Given the description of an element on the screen output the (x, y) to click on. 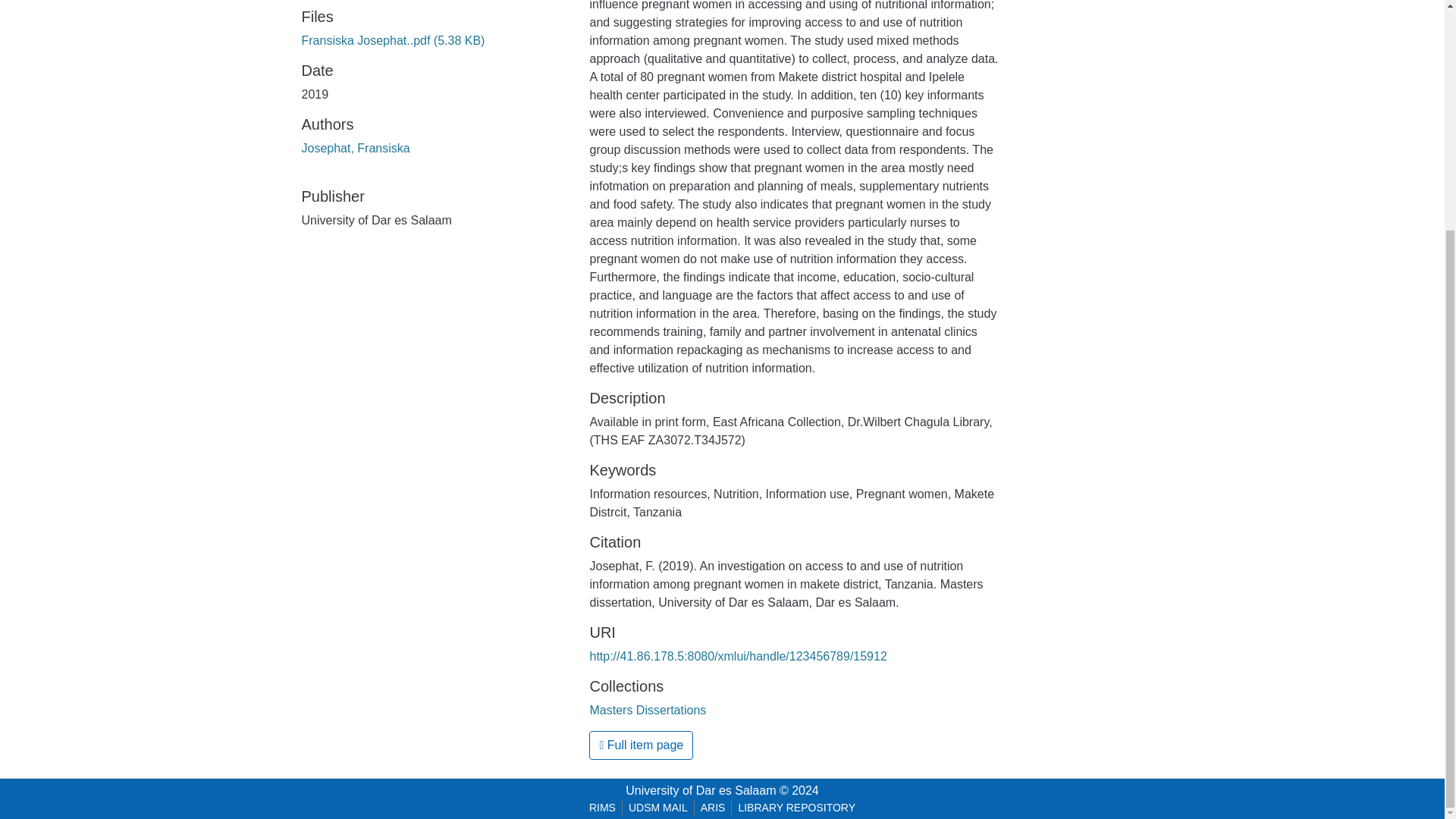
UDSM MAIL (658, 807)
Josephat, Fransiska (355, 147)
Masters Dissertations (647, 709)
RIMS (602, 807)
LIBRARY REPOSITORY (796, 807)
ARIS (713, 807)
Full item page (641, 745)
